Given the description of an element on the screen output the (x, y) to click on. 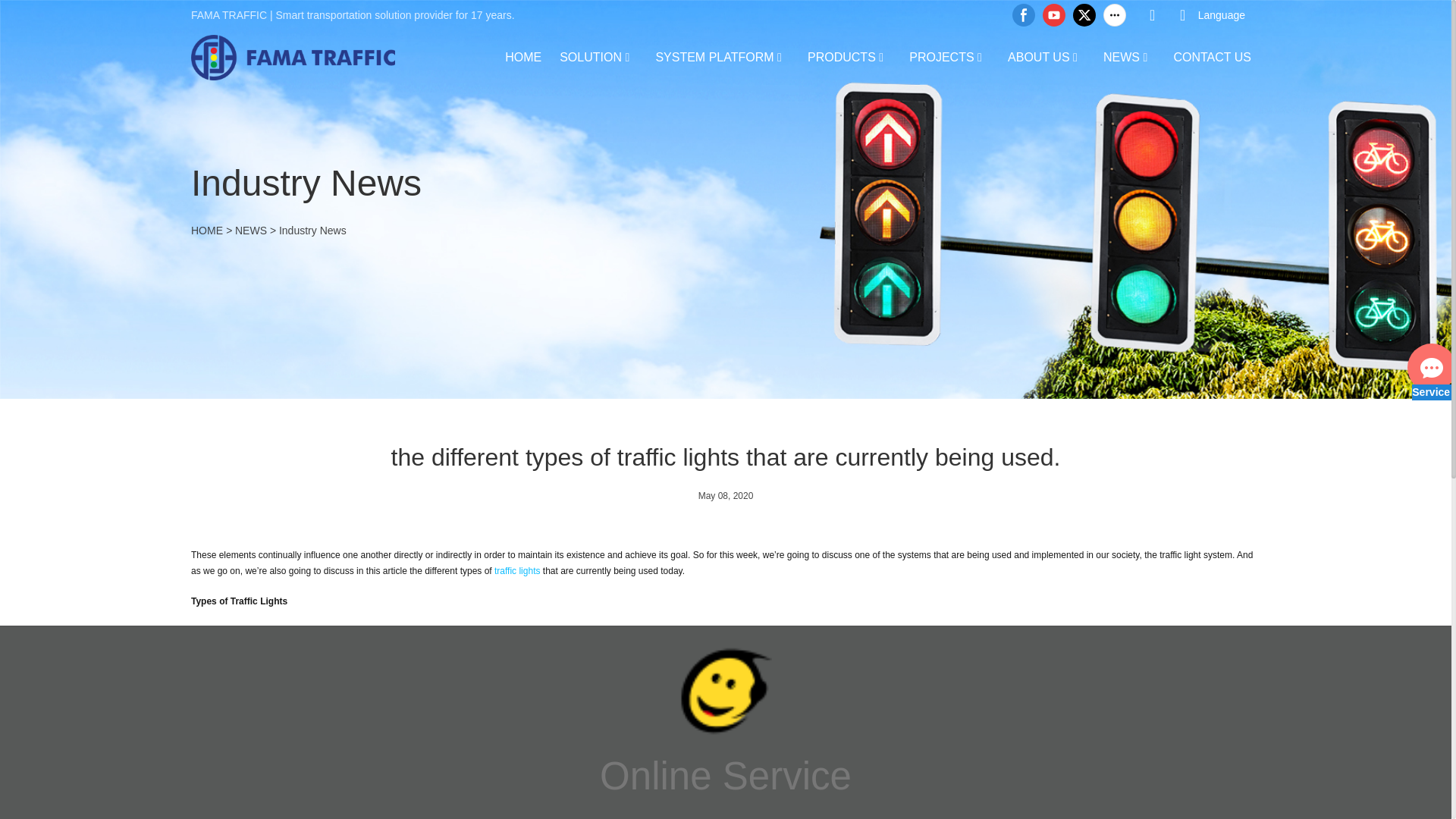
SYSTEM PLATFORM (714, 56)
PRODUCTS (842, 56)
HOME (523, 56)
facebook (1024, 15)
PROJECTS (941, 56)
twitter (1083, 15)
traffic lights (517, 570)
youtube (1053, 15)
SOLUTION (590, 56)
